Given the description of an element on the screen output the (x, y) to click on. 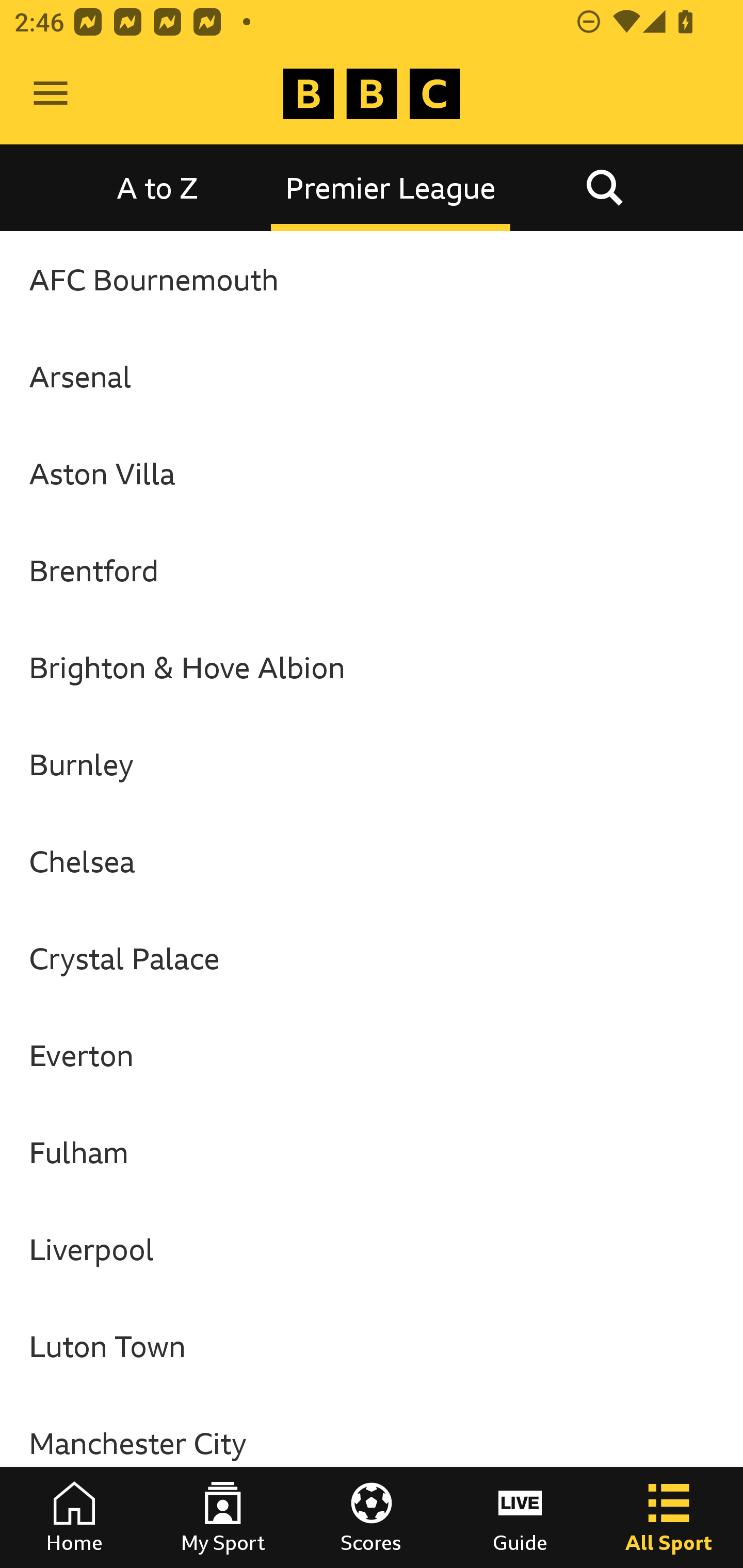
Open Menu (50, 93)
A to Z (157, 187)
Search (604, 187)
AFC Bournemouth (371, 278)
Arsenal (371, 375)
Aston Villa (371, 473)
Brentford (371, 570)
Brighton & Hove Albion (371, 667)
Burnley (371, 764)
Chelsea (371, 860)
Crystal Palace (371, 957)
Everton (371, 1054)
Fulham (371, 1152)
Liverpool (371, 1249)
Luton Town (371, 1345)
Manchester City (371, 1442)
Home (74, 1517)
My Sport (222, 1517)
Scores (371, 1517)
Guide (519, 1517)
